Given the description of an element on the screen output the (x, y) to click on. 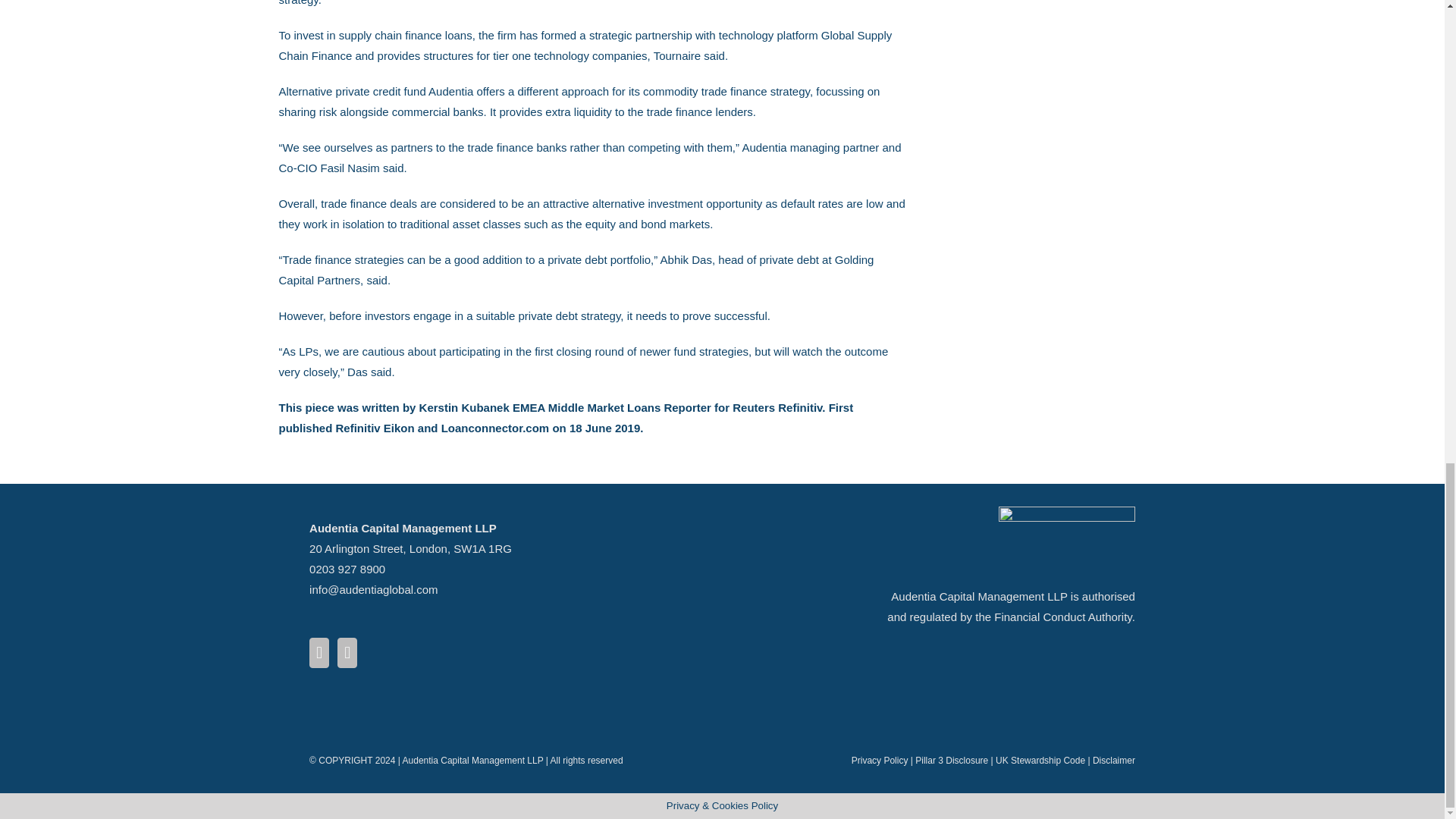
Privacy Policy (879, 760)
Loanconnector.com (495, 427)
LinkedIn (346, 653)
Twitter (318, 653)
